Given the description of an element on the screen output the (x, y) to click on. 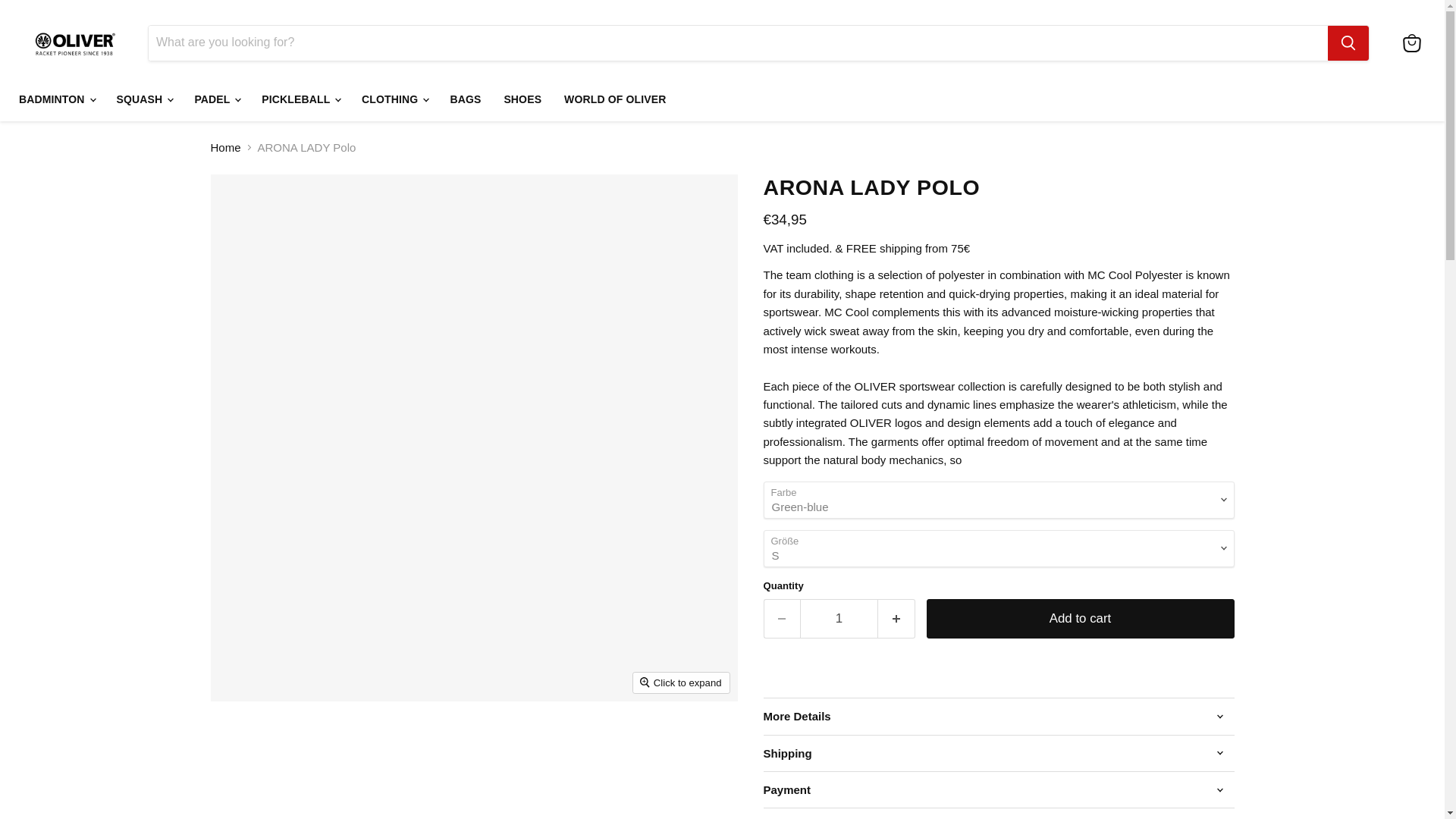
View cart (1411, 41)
1 (838, 618)
